Given the description of an element on the screen output the (x, y) to click on. 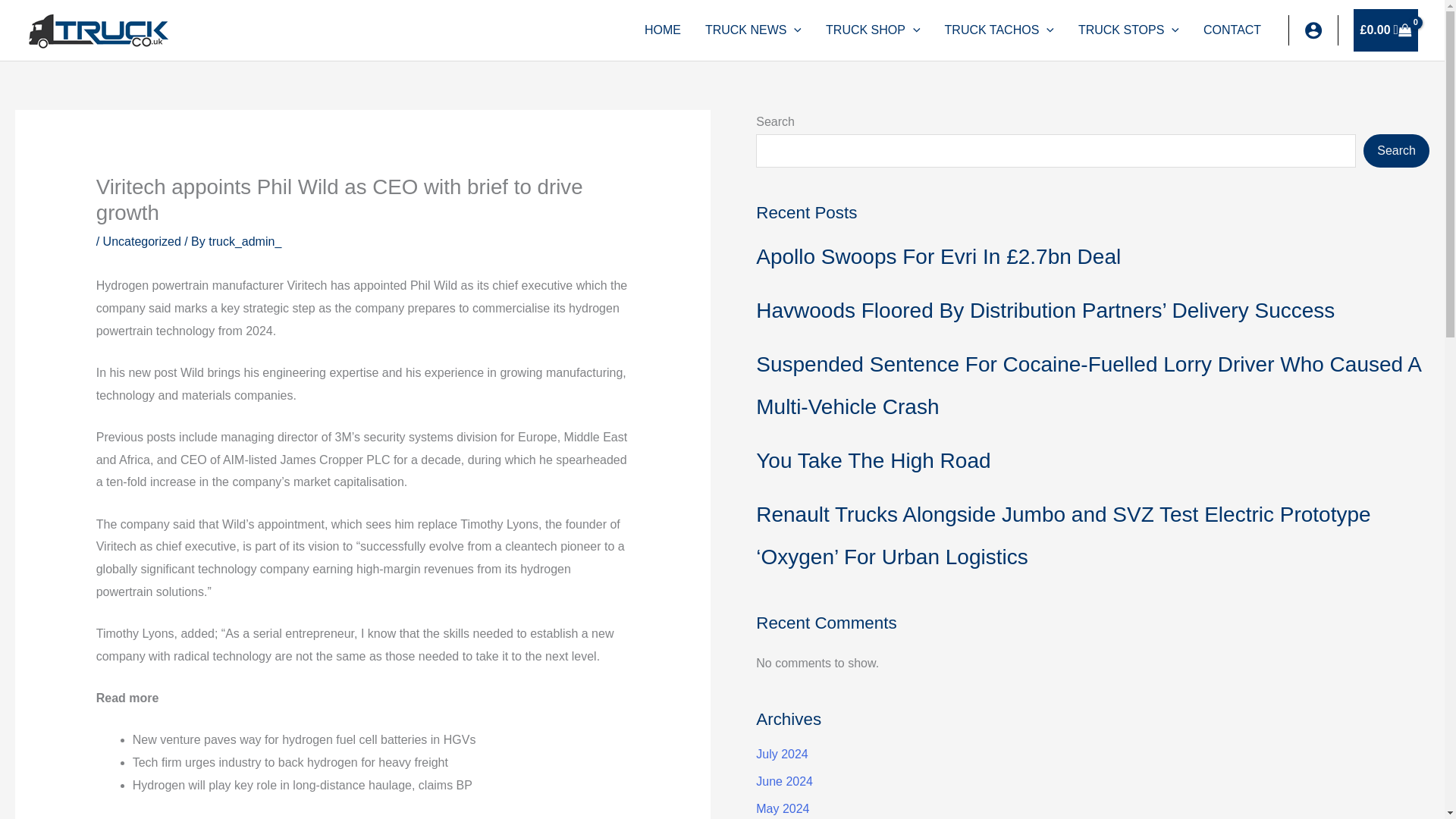
TRUCK NEWS (753, 30)
HOME (662, 30)
TRUCK STOPS (1128, 30)
TRUCK SHOP (873, 30)
CONTACT (1231, 30)
TRUCK TACHOS (999, 30)
